Given the description of an element on the screen output the (x, y) to click on. 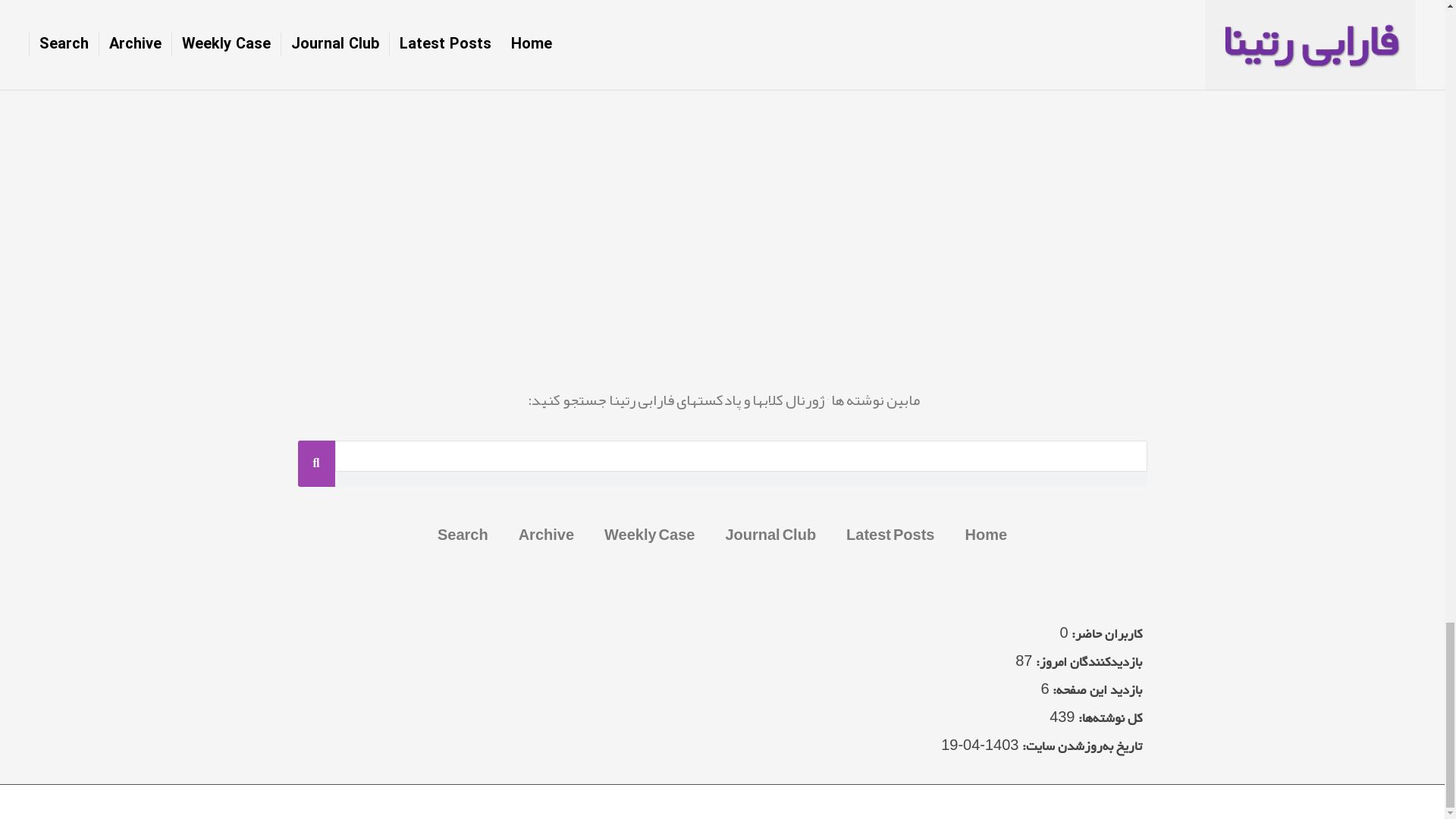
Search (462, 534)
Home (985, 534)
Archive (546, 534)
Journal Club (770, 534)
Latest Posts (890, 534)
Weekly Case (649, 534)
